Given the description of an element on the screen output the (x, y) to click on. 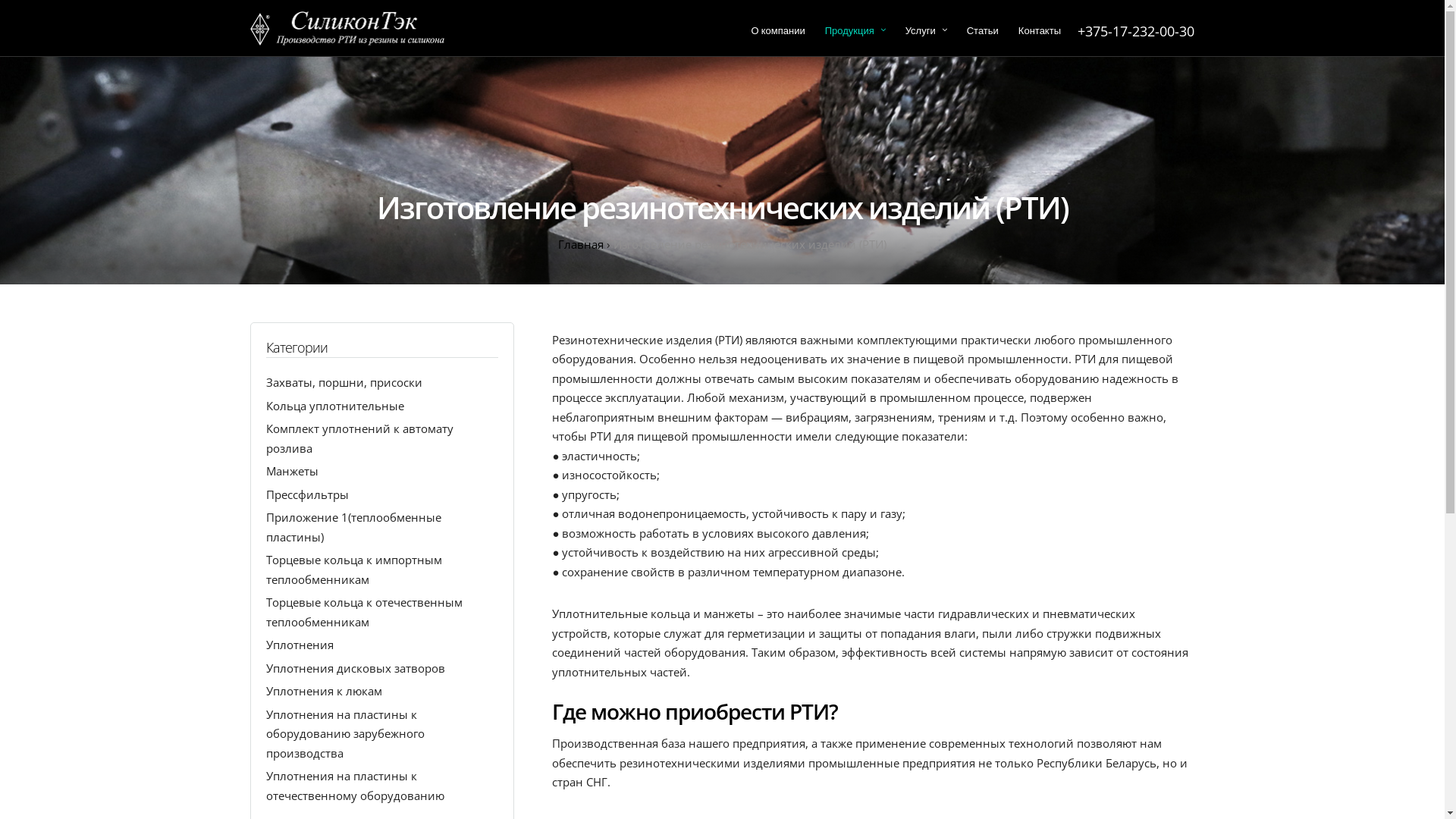
+375-17-232-00-30 Element type: text (1135, 30)
